Given the description of an element on the screen output the (x, y) to click on. 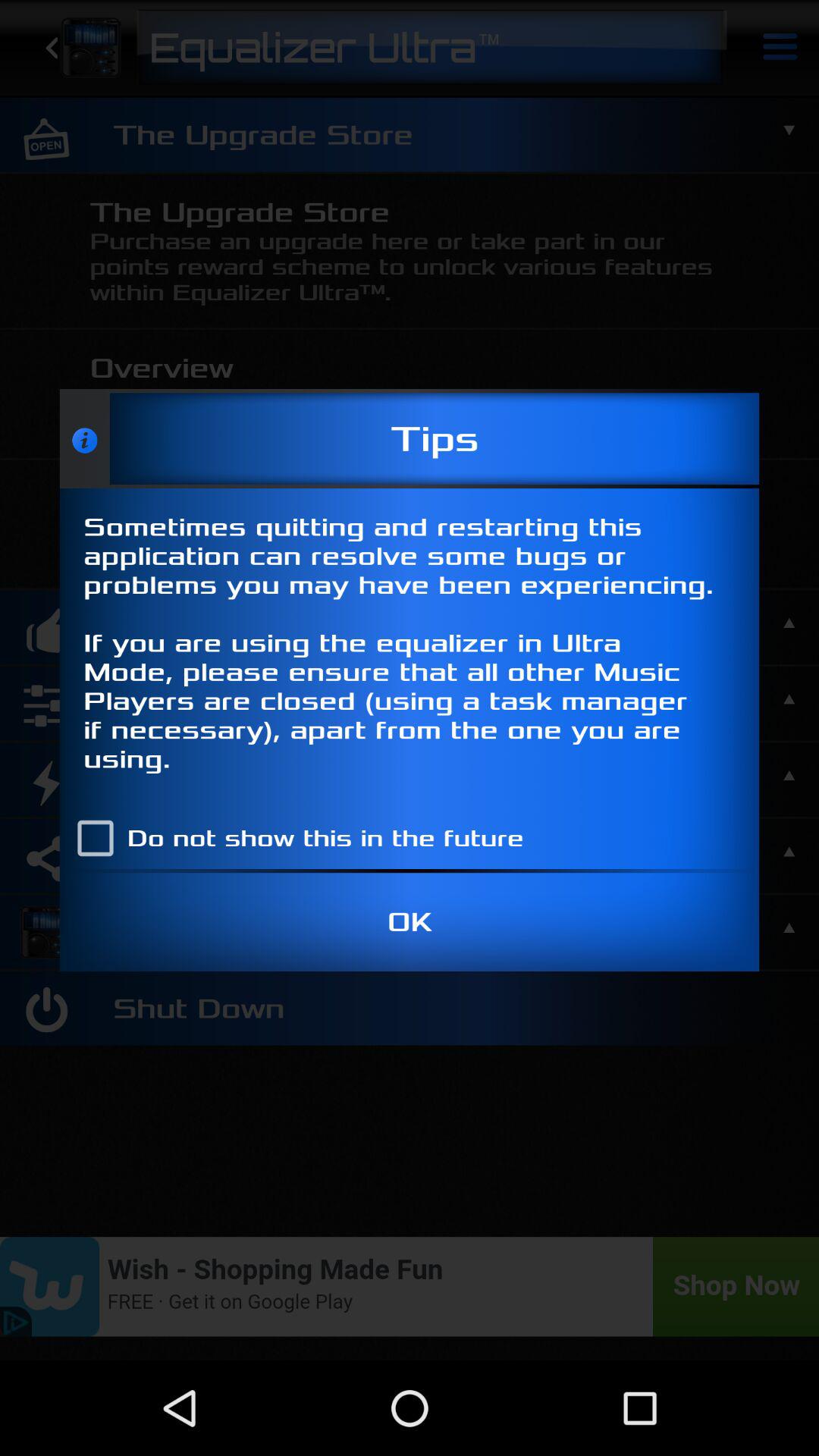
scroll until the sometimes quitting and icon (409, 647)
